Given the description of an element on the screen output the (x, y) to click on. 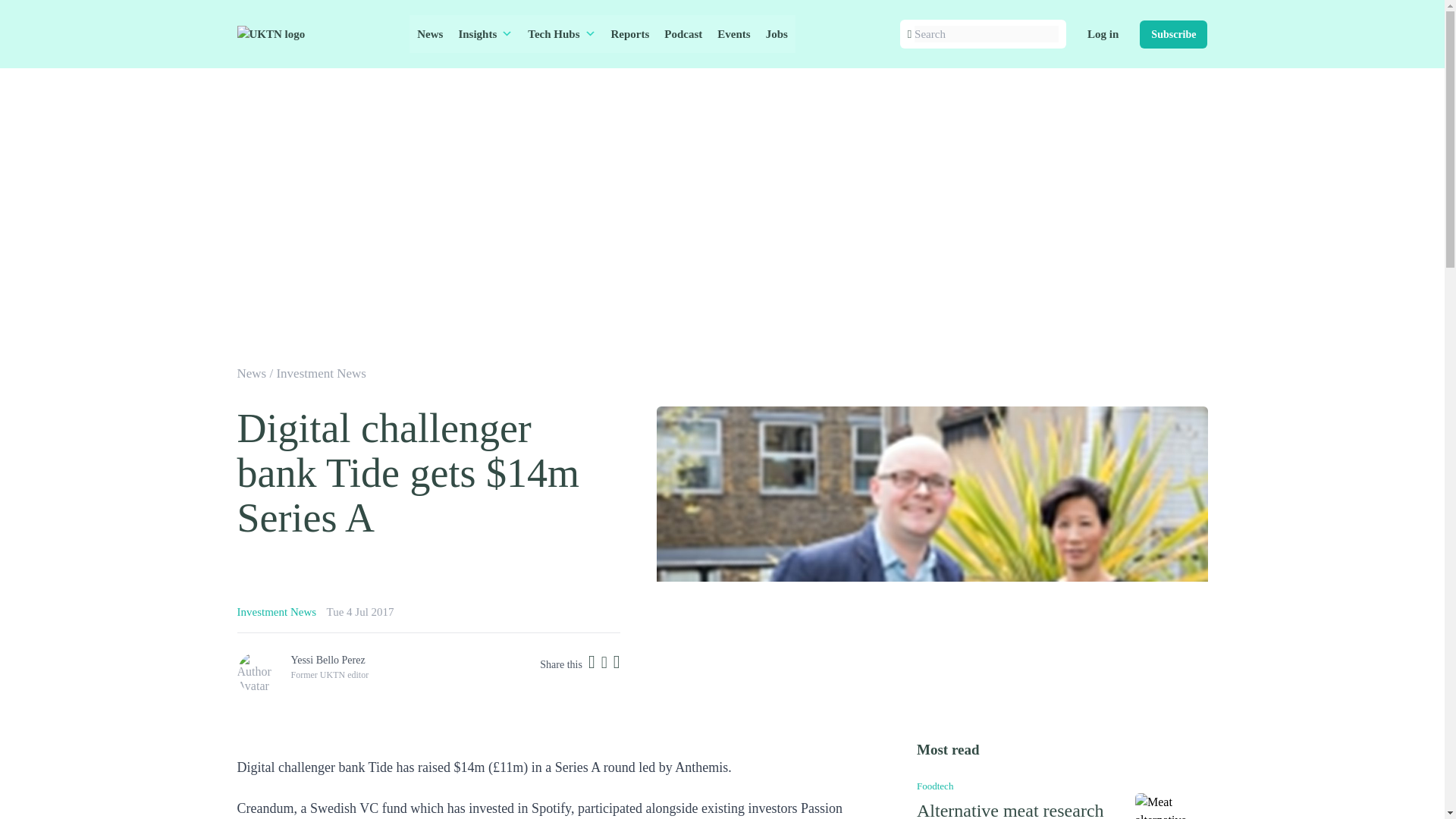
Reports (631, 34)
Podcast (683, 34)
Investment News (275, 612)
Events (733, 34)
Yessi Bello Perez (328, 659)
Investment News (321, 373)
Log in (1102, 34)
News (250, 373)
News (429, 34)
Insights (484, 34)
